Given the description of an element on the screen output the (x, y) to click on. 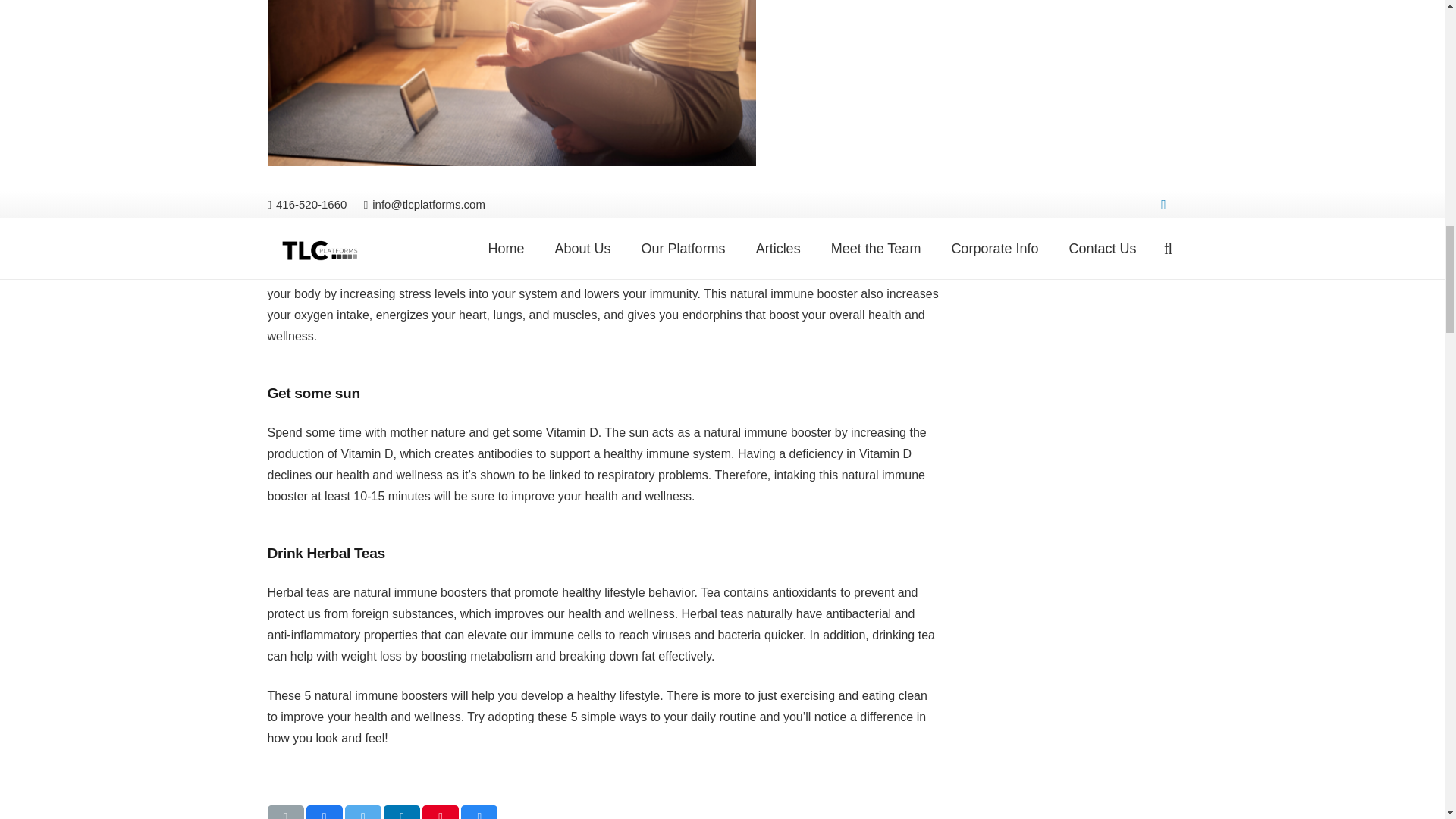
Tweet this (363, 812)
Share this (323, 812)
Email this (284, 812)
Pin this (440, 812)
Share this (479, 812)
Share this (402, 812)
